Given the description of an element on the screen output the (x, y) to click on. 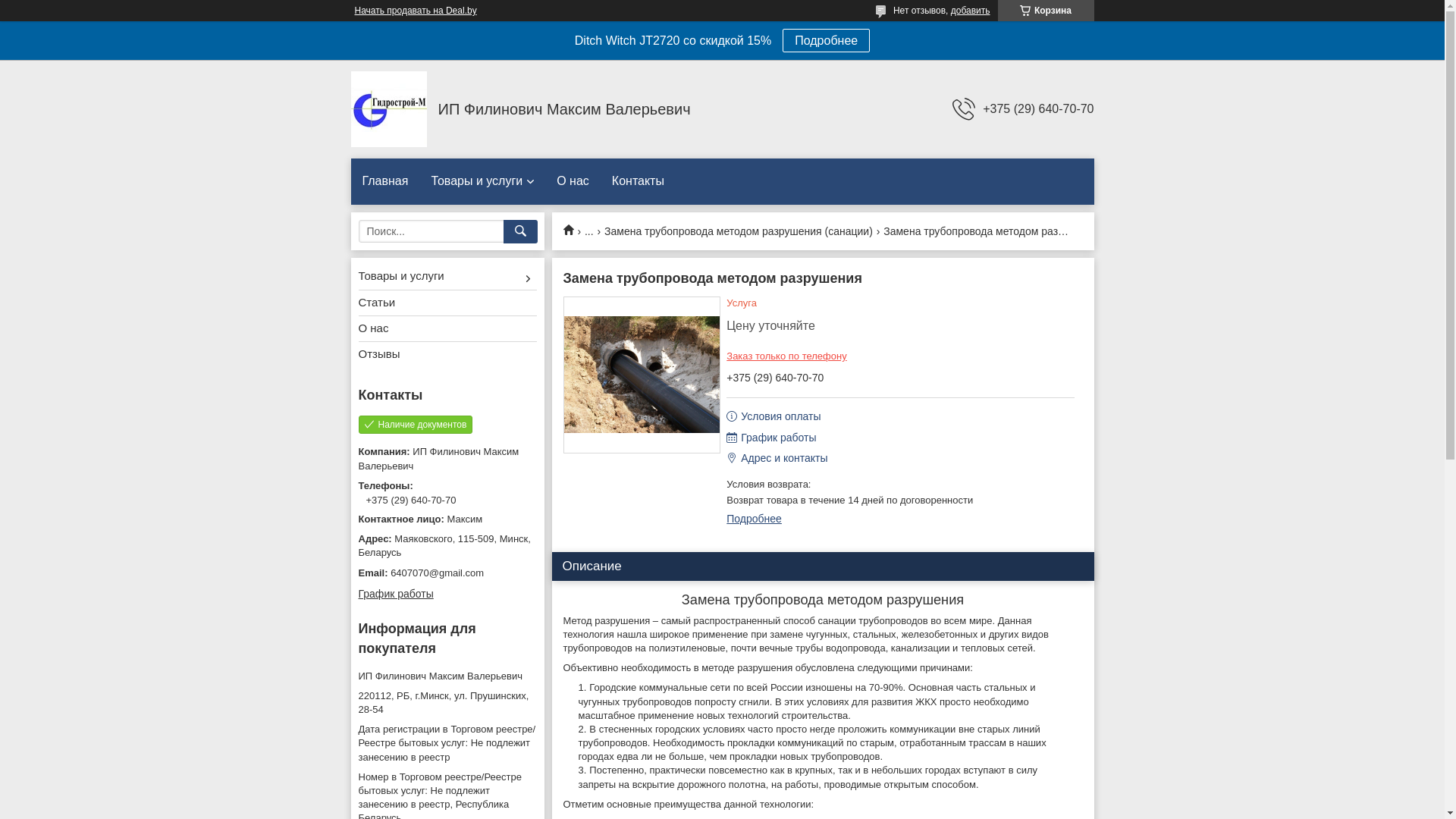
6407070@gmail.com Element type: text (446, 573)
